Given the description of an element on the screen output the (x, y) to click on. 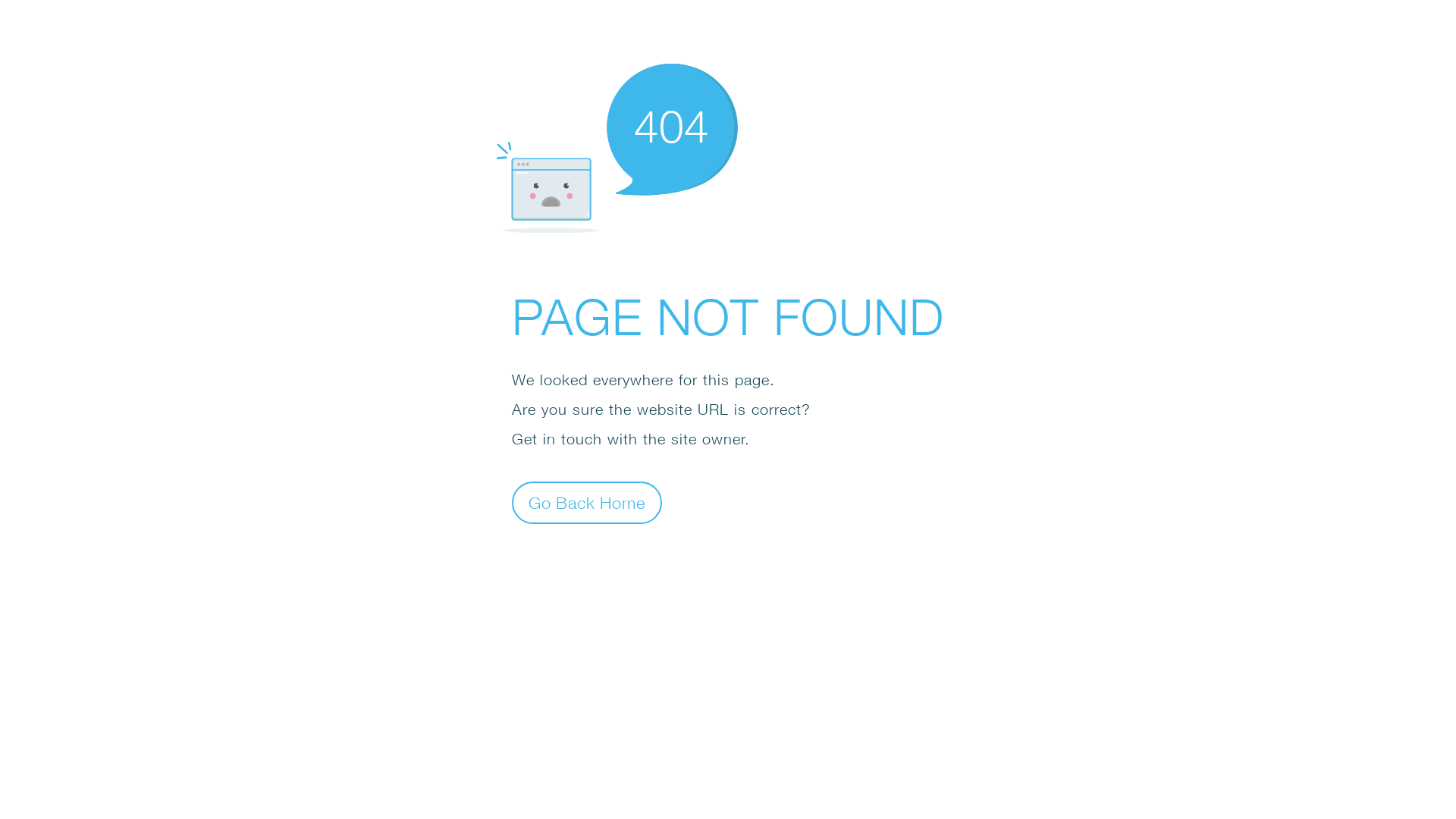
Go Back Home Element type: text (586, 502)
